Given the description of an element on the screen output the (x, y) to click on. 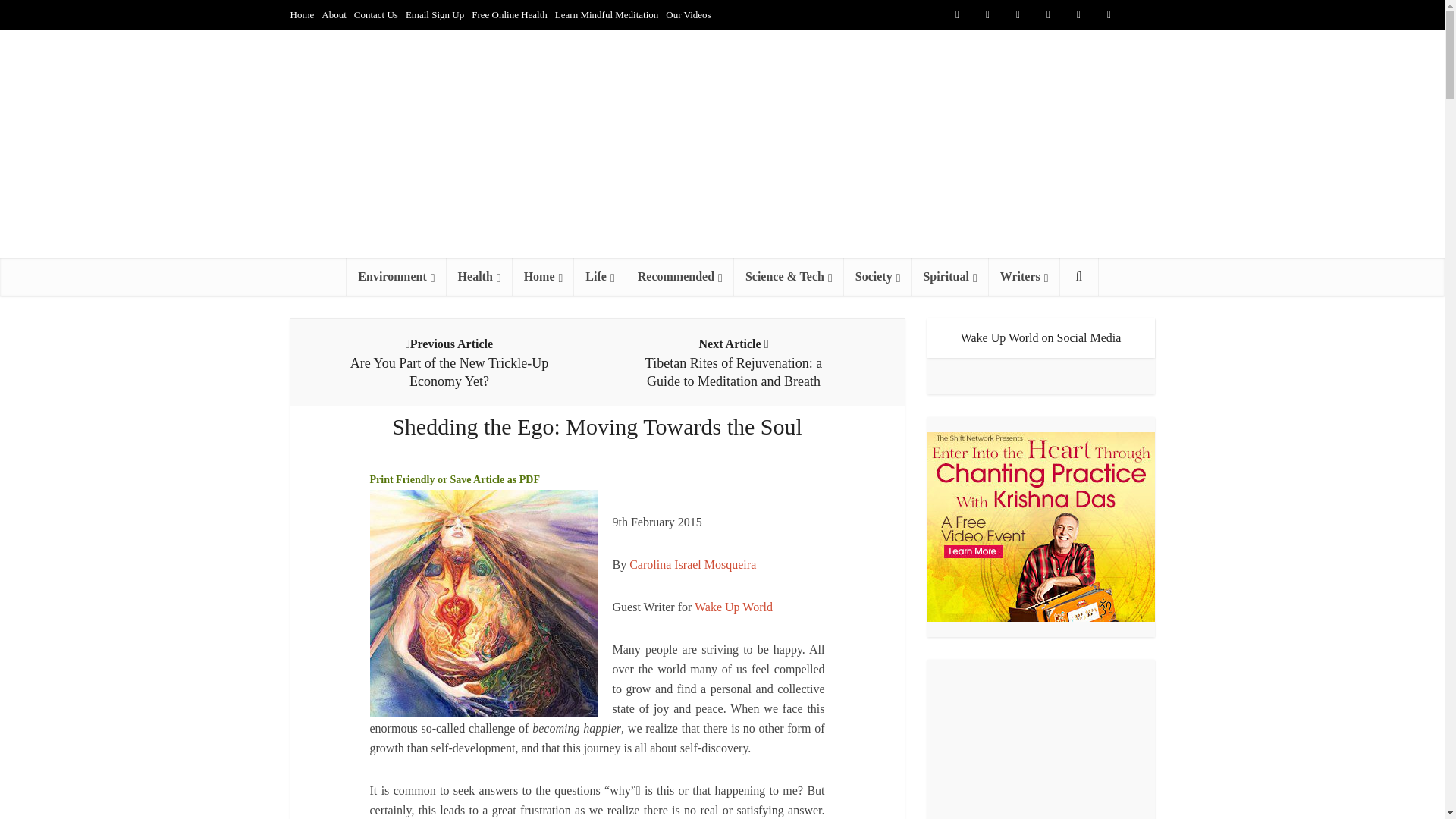
Environment (395, 276)
Health (479, 276)
Our Videos (687, 14)
Articles recommended by WuW (679, 276)
Contact Us (375, 14)
Home (301, 14)
Free Online Health (509, 14)
Telegram (1139, 15)
Email Sign Up (435, 14)
